Given the description of an element on the screen output the (x, y) to click on. 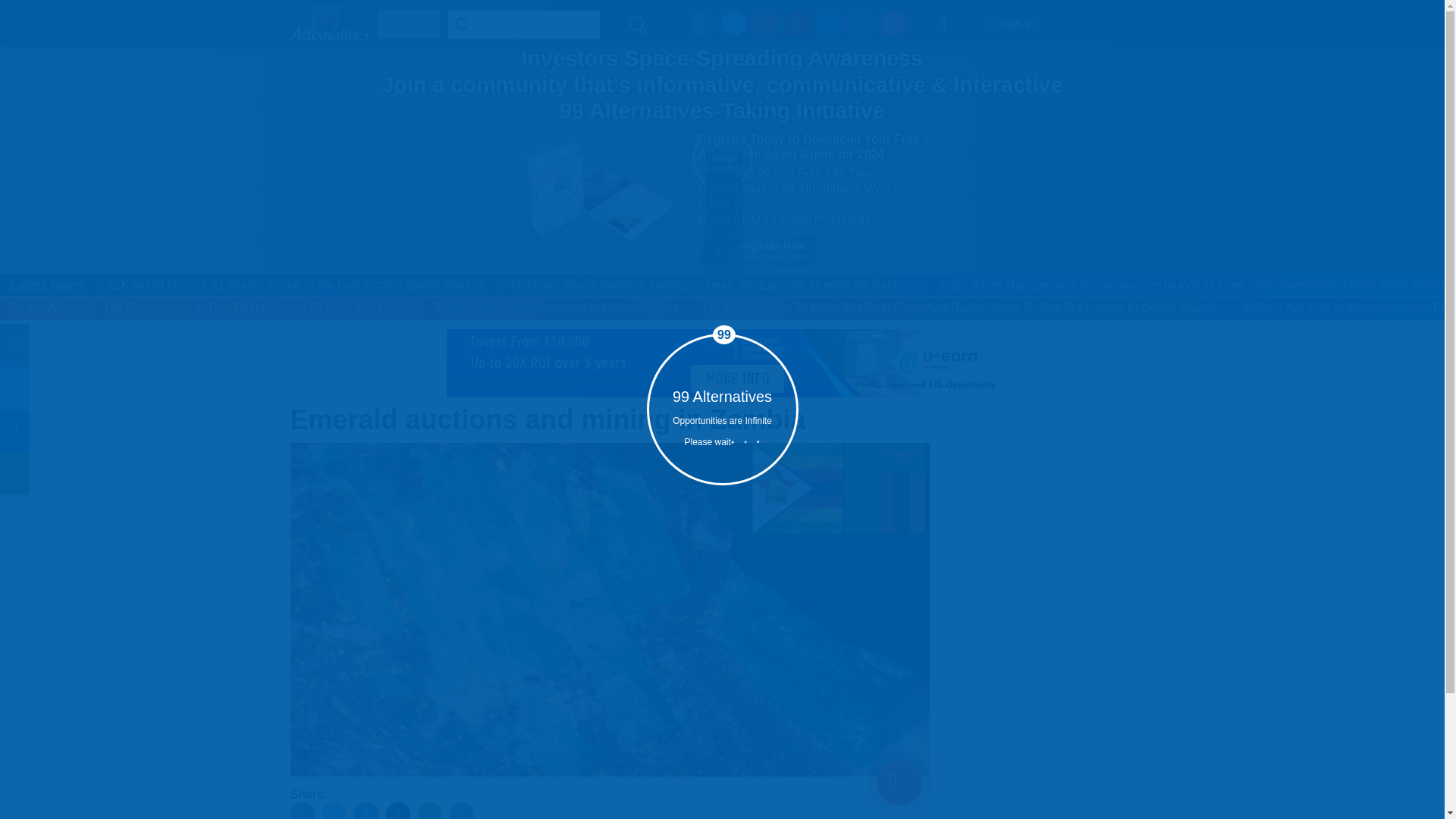
Play Audio (898, 782)
Sign In (1010, 23)
